Given the description of an element on the screen output the (x, y) to click on. 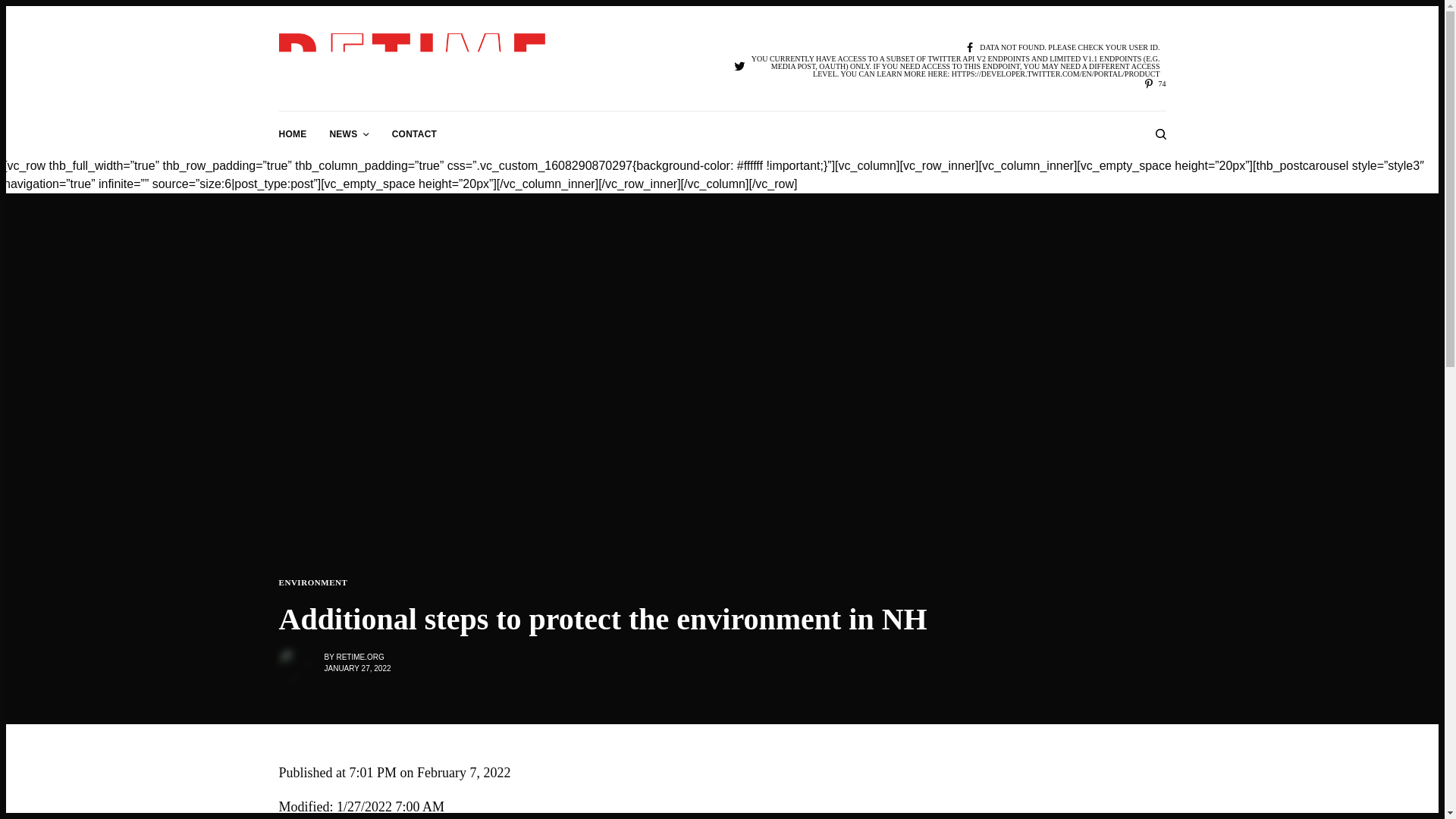
ENVIRONMENT (313, 582)
RETIME.ORG (360, 656)
ReTime (412, 60)
Posts by ReTime.org (360, 656)
74 (1154, 83)
DATA NOT FOUND. PLEASE CHECK YOUR USER ID. (1062, 47)
CONTACT (413, 134)
